Given the description of an element on the screen output the (x, y) to click on. 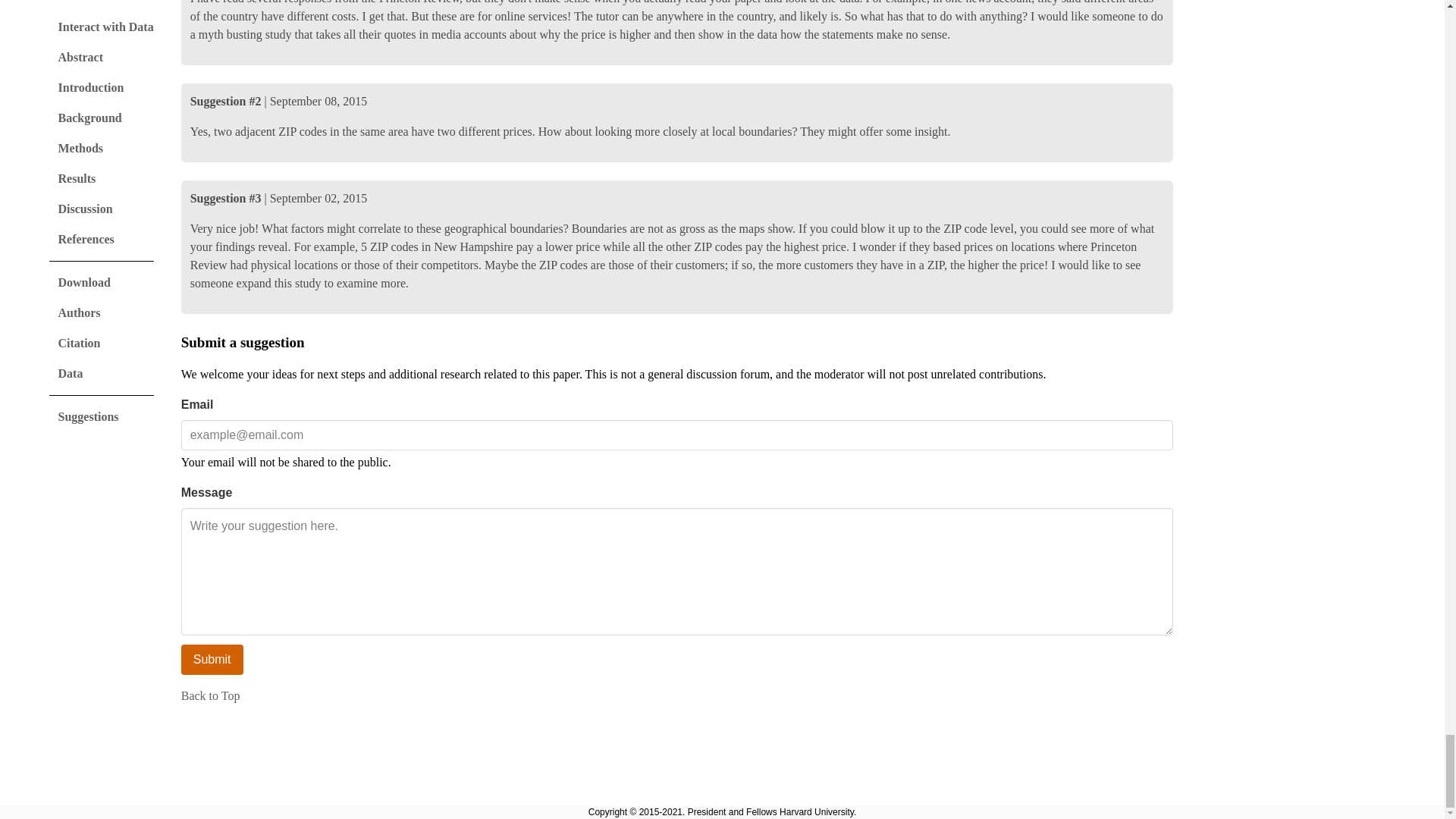
Submit (211, 659)
Back to Top (210, 695)
